Given the description of an element on the screen output the (x, y) to click on. 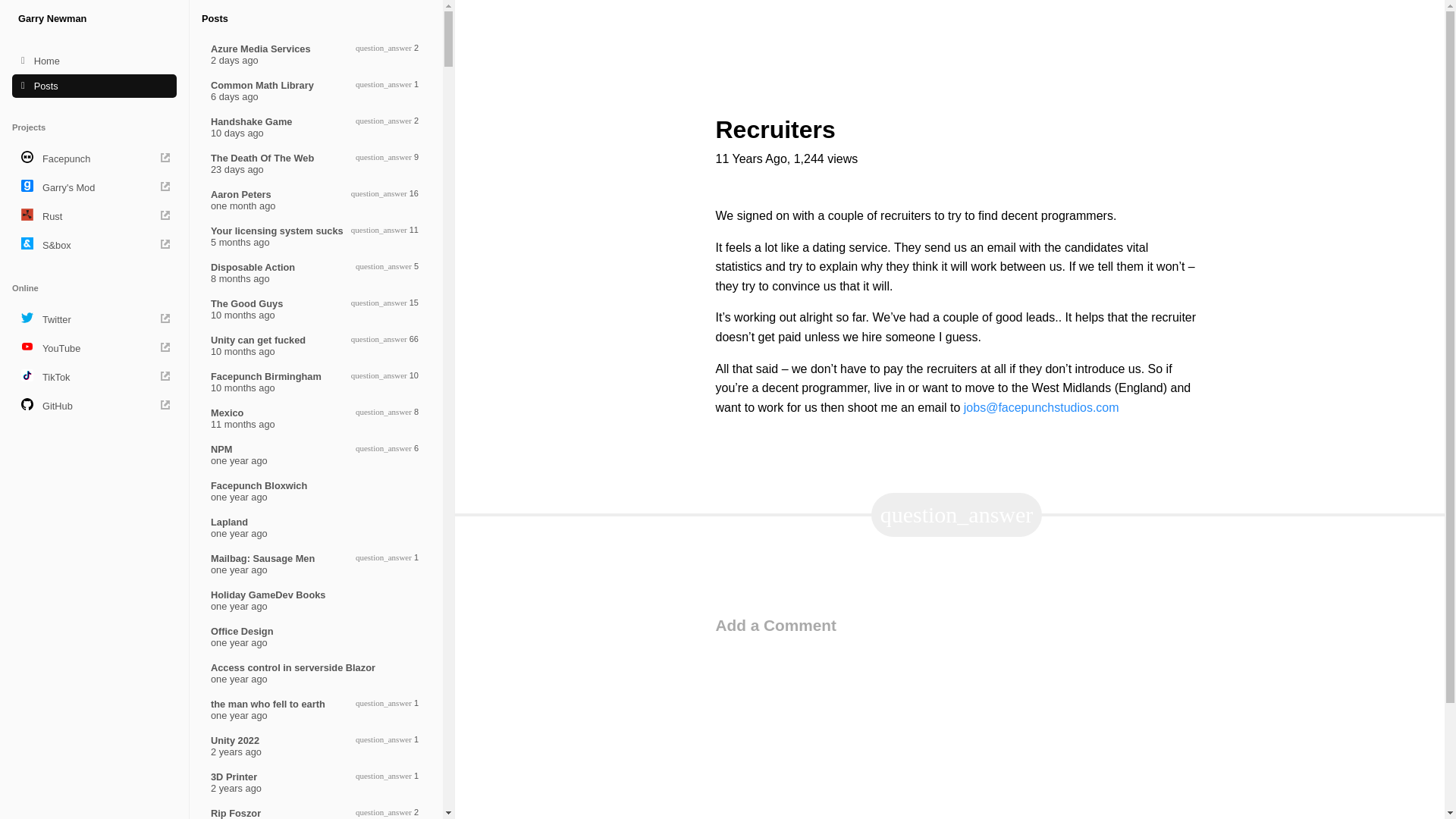
YouTube (93, 347)
Comments (316, 636)
Facepunch (316, 600)
TikTok (957, 515)
Wednesday, March 20, 2013 8:32:50 AM (93, 157)
GitHub (316, 527)
Twitter-color Created with Sketch. (316, 673)
Rust (93, 376)
